Given the description of an element on the screen output the (x, y) to click on. 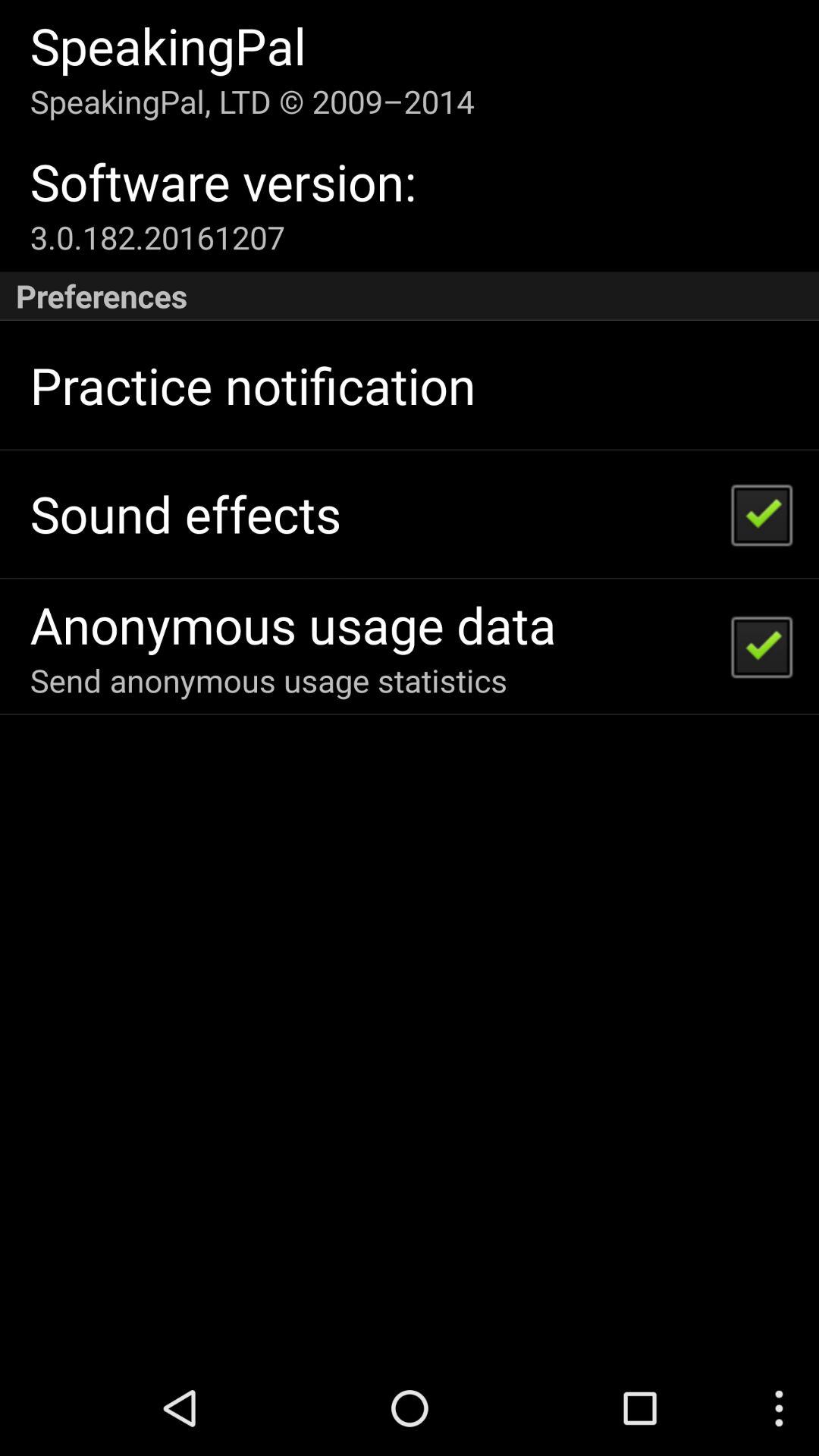
turn off icon above anonymous usage data icon (185, 513)
